Given the description of an element on the screen output the (x, y) to click on. 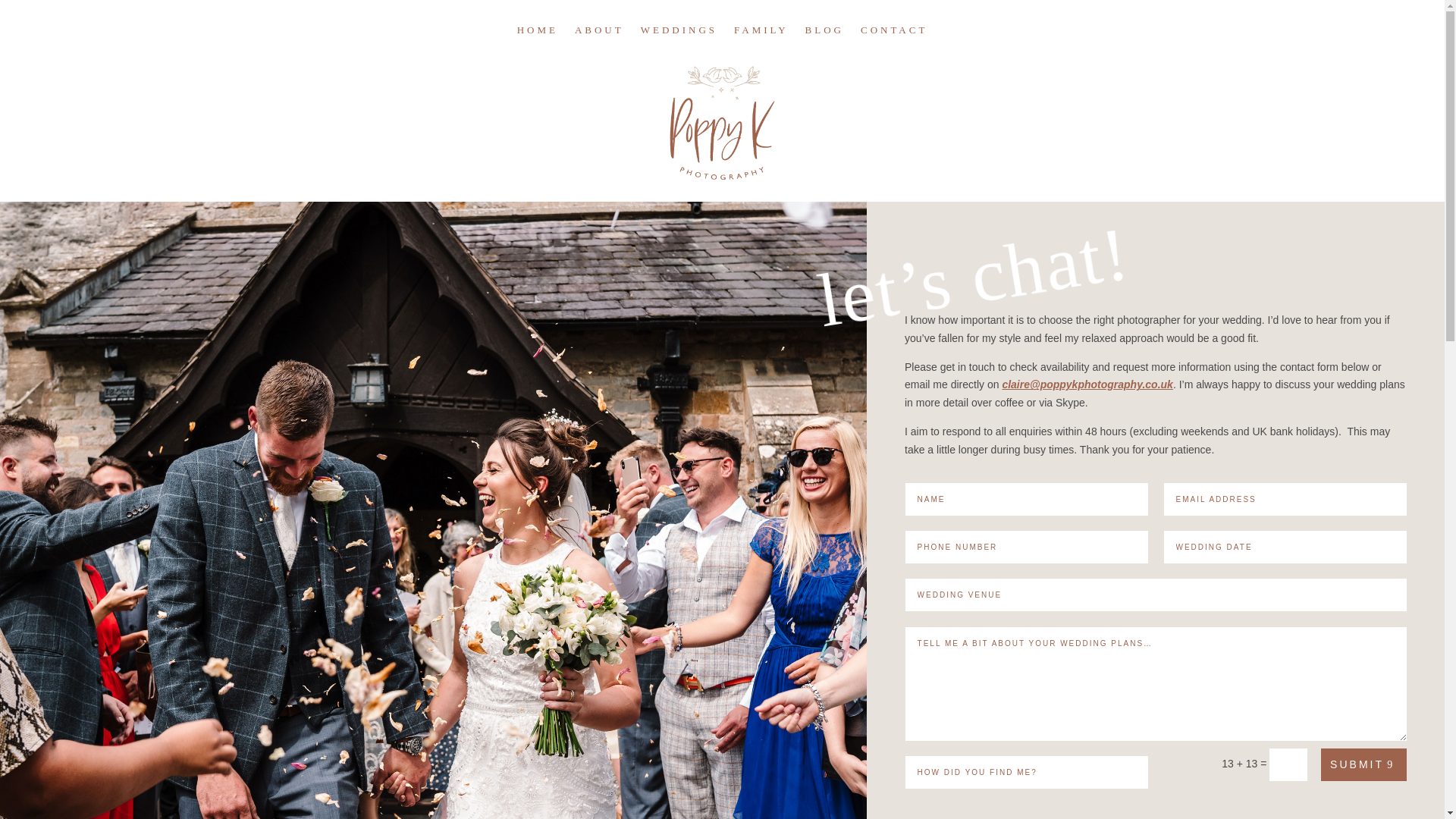
ABOUT (599, 41)
WEDDINGS (678, 41)
CONTACT (893, 41)
SUBMIT (1363, 764)
FAMILY (761, 41)
HOME (536, 41)
BLOG (824, 41)
